Given the description of an element on the screen output the (x, y) to click on. 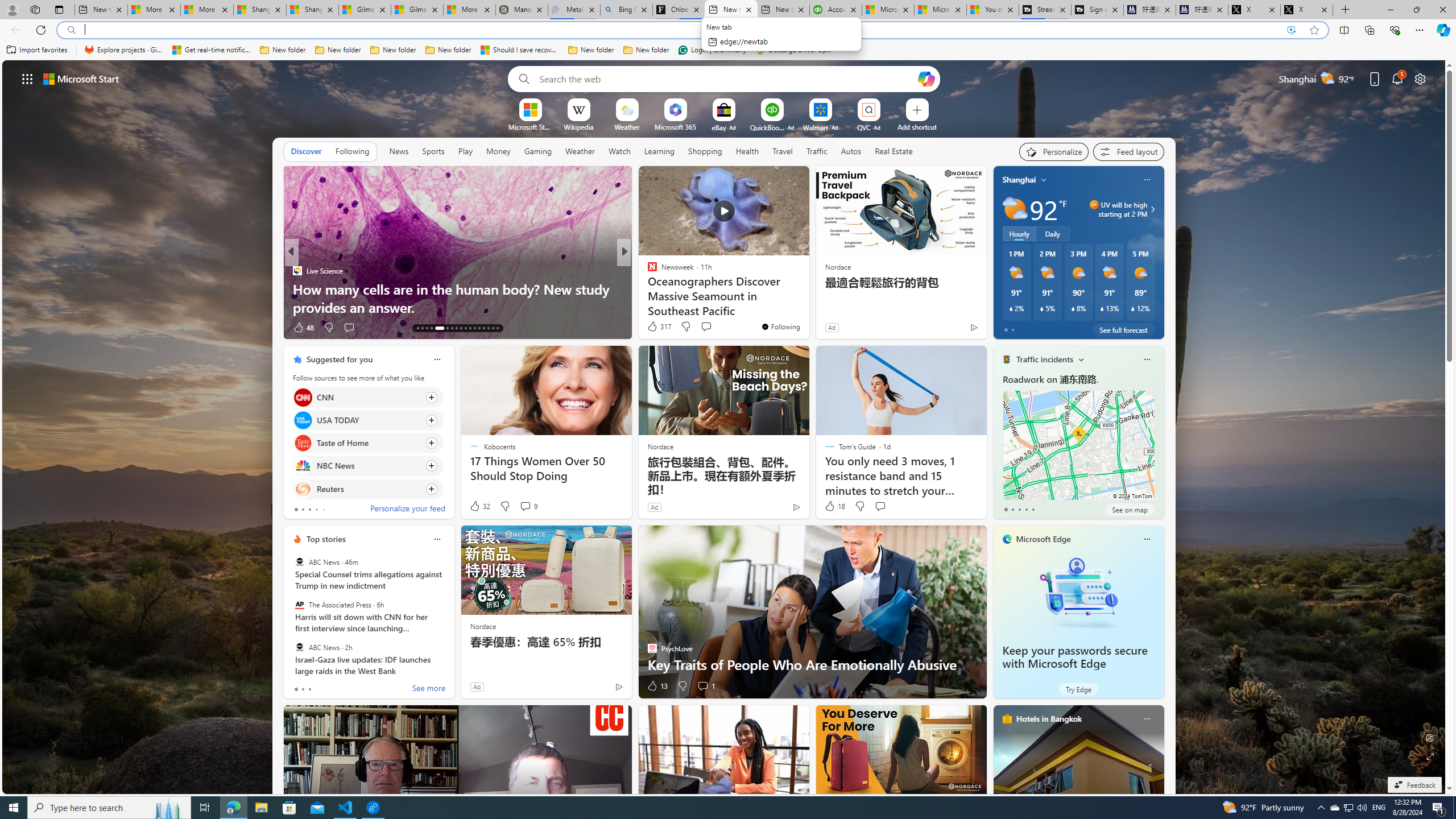
Sports (432, 151)
Wikipedia (578, 126)
AutomationID: tab-20 (456, 328)
Should I save recovered Word documents? - Microsoft Support (519, 49)
62 Like (652, 327)
AutomationID: tab-37 (488, 328)
Play (465, 151)
Play (465, 151)
Dislike (682, 685)
